Given the description of an element on the screen output the (x, y) to click on. 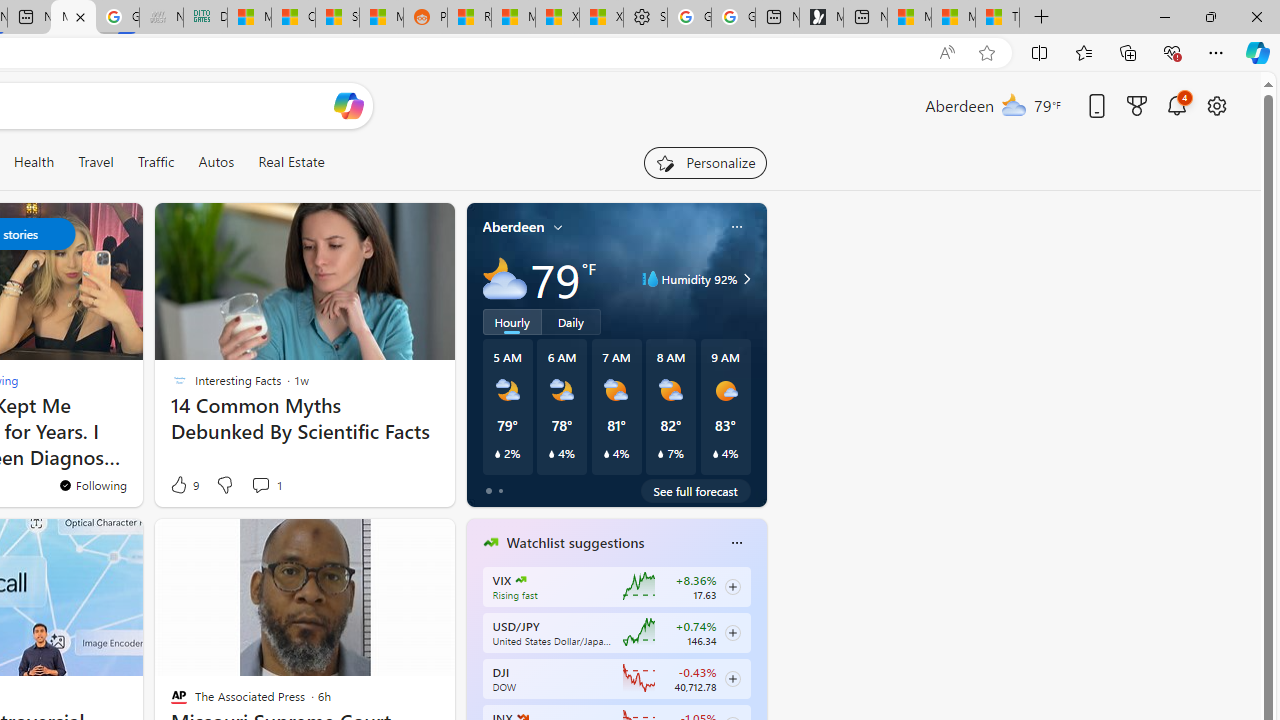
Stocks - MSN (337, 17)
tab-0 (488, 490)
previous (476, 670)
R******* | Trusted Community Engagement and Contributions (469, 17)
Autos (215, 161)
